Given the description of an element on the screen output the (x, y) to click on. 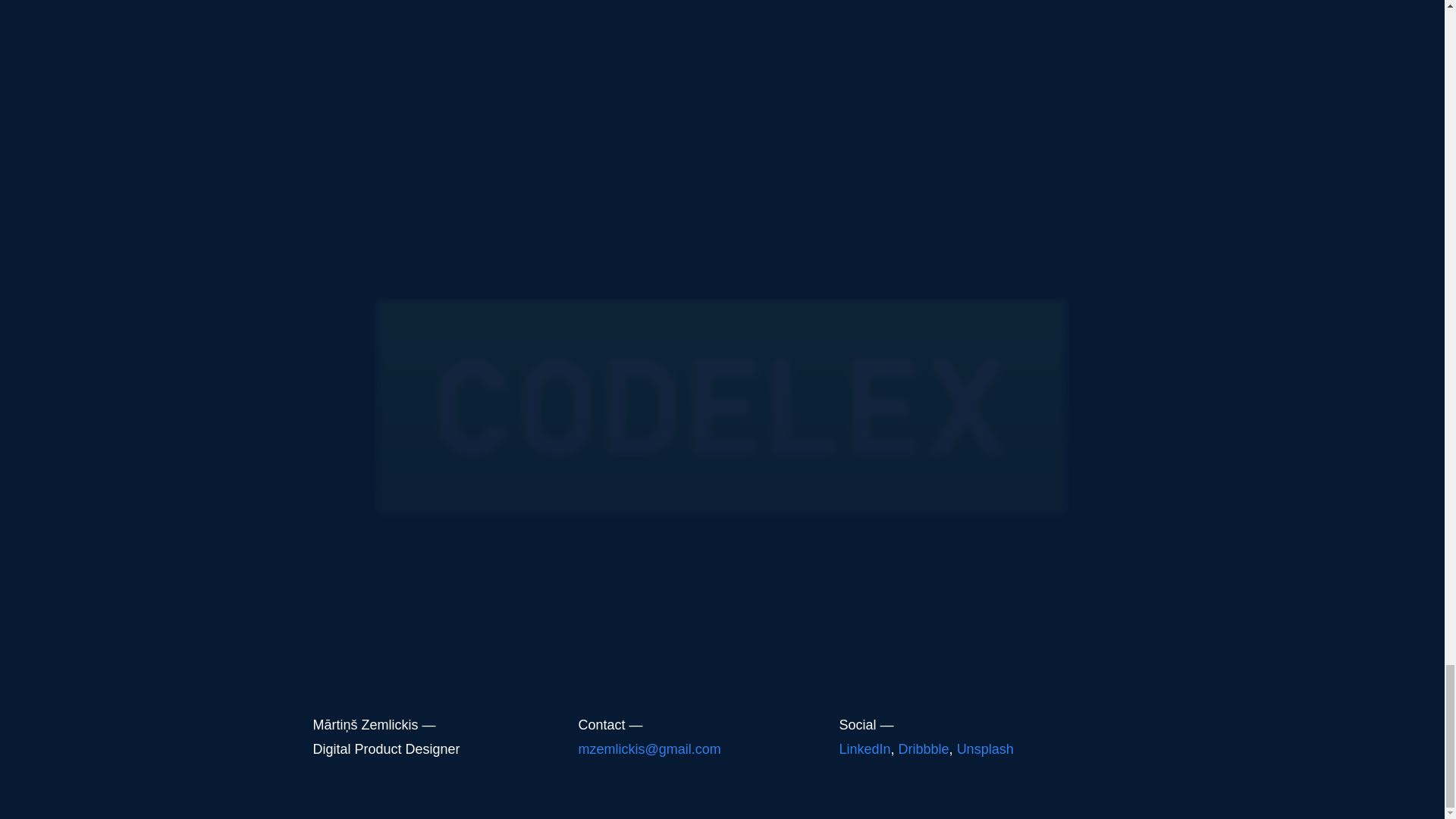
Unsplash (984, 748)
LinkedIn (863, 748)
Dribbble (923, 748)
